Given the description of an element on the screen output the (x, y) to click on. 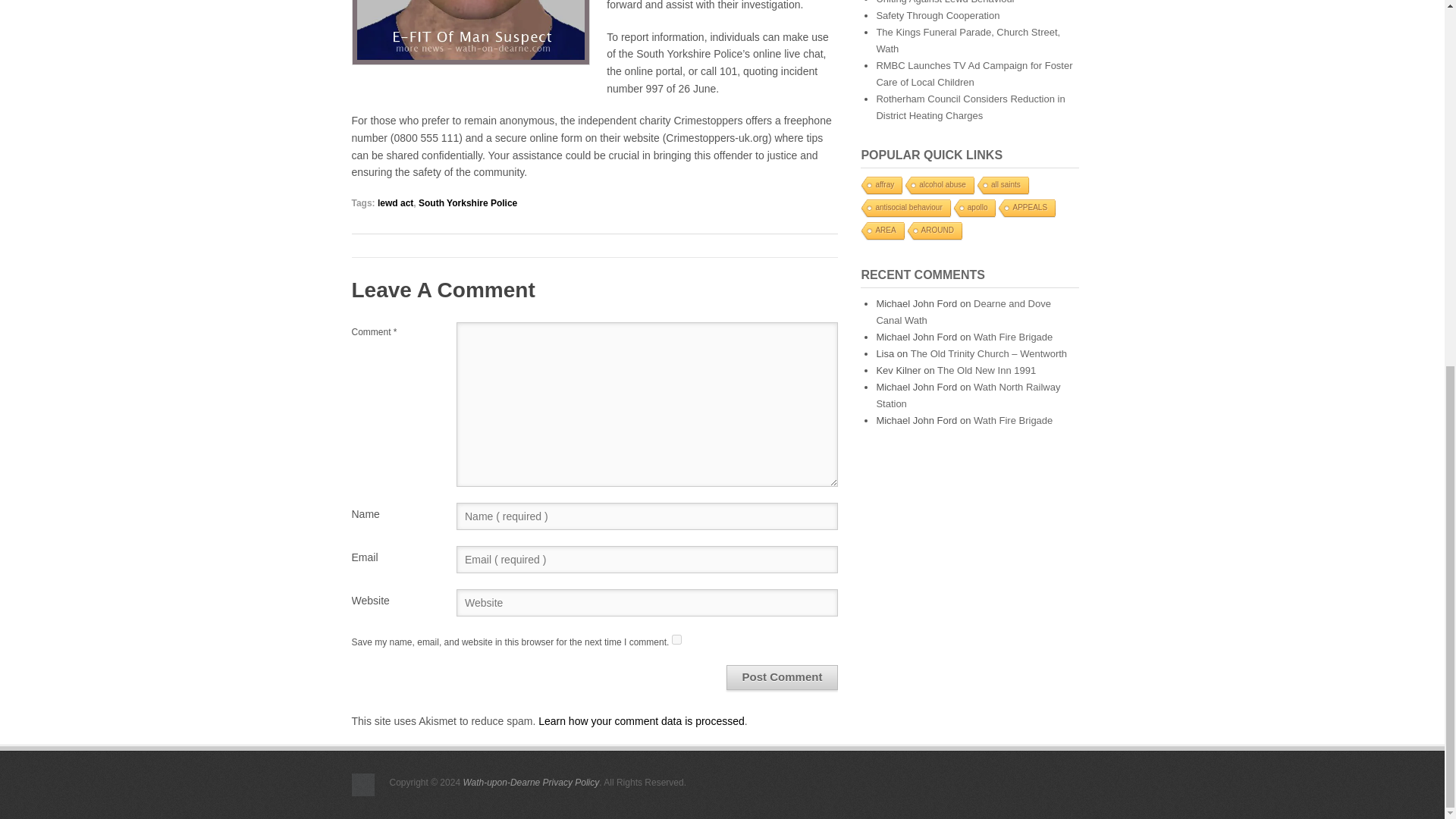
Learn how your comment data is processed (641, 720)
yes (676, 639)
South Yorkshire Police (467, 203)
Post Comment (782, 677)
lewd act (395, 203)
Post Comment (782, 677)
